Given the description of an element on the screen output the (x, y) to click on. 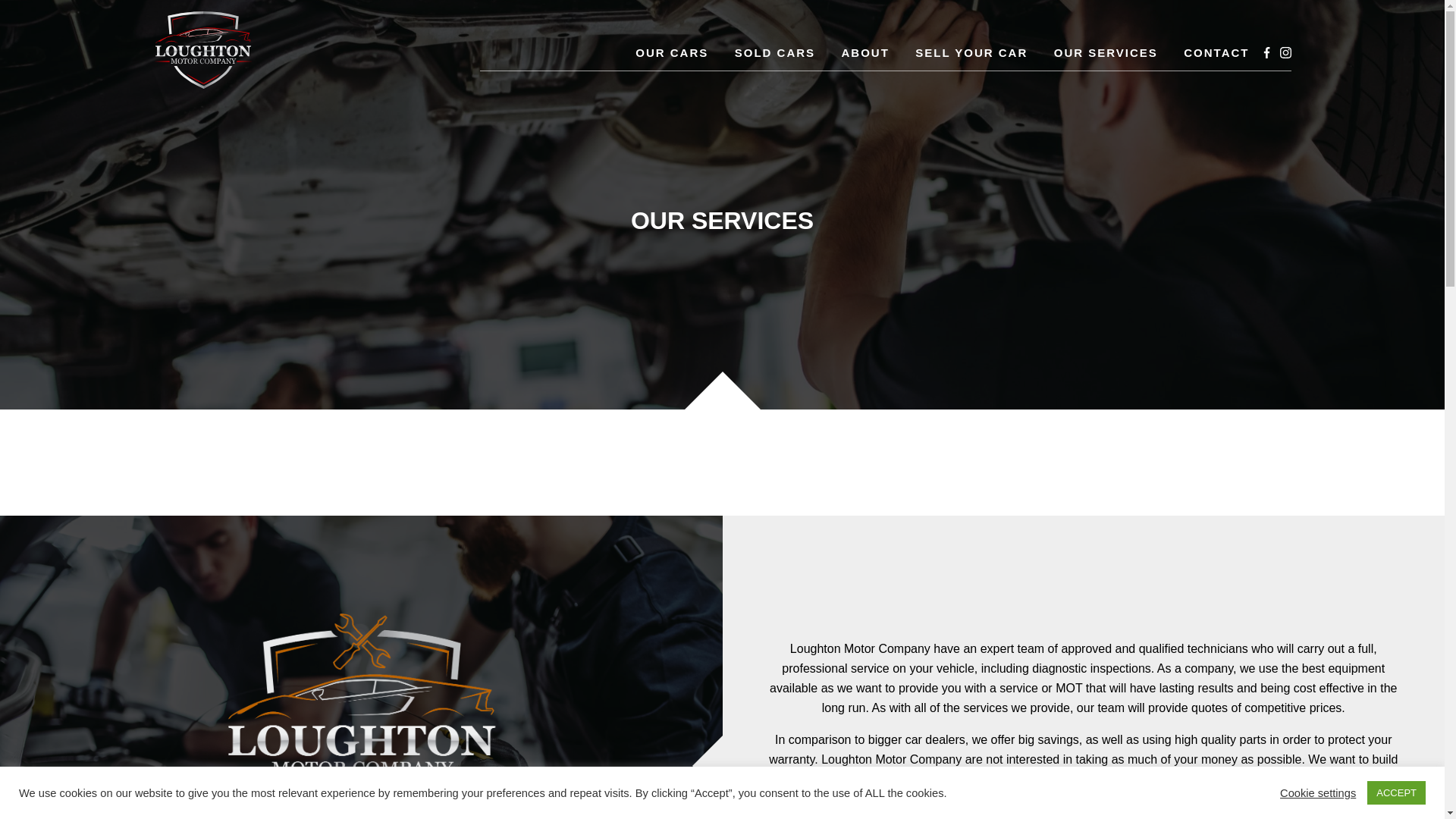
SELL YOUR CAR (971, 53)
Cookie settings (1317, 792)
SOLD CARS (775, 53)
OUR SERVICES (1105, 53)
OUR CARS (670, 53)
ABOUT (865, 53)
ACCEPT (1396, 792)
CONTACT (1216, 53)
